Given the description of an element on the screen output the (x, y) to click on. 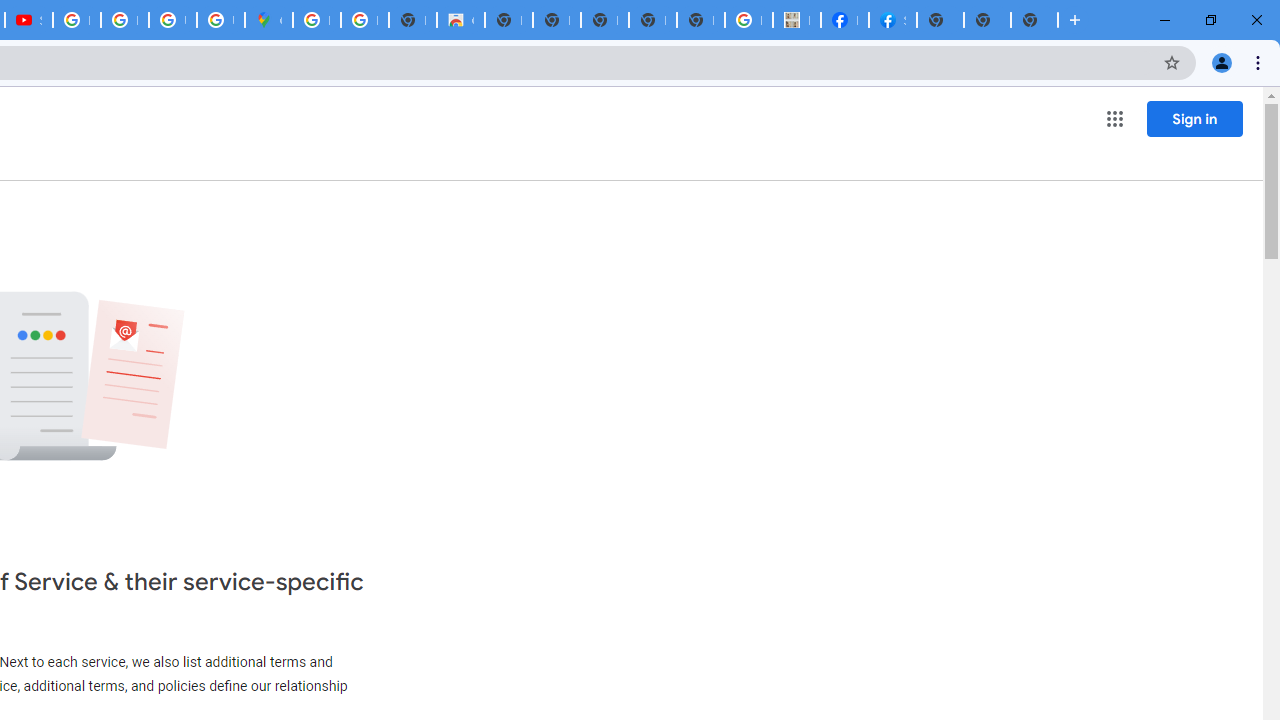
Sign Up for Facebook (892, 20)
Miley Cyrus | Facebook (844, 20)
Google Maps (268, 20)
Chrome Web Store (460, 20)
New Tab (939, 20)
